Given the description of an element on the screen output the (x, y) to click on. 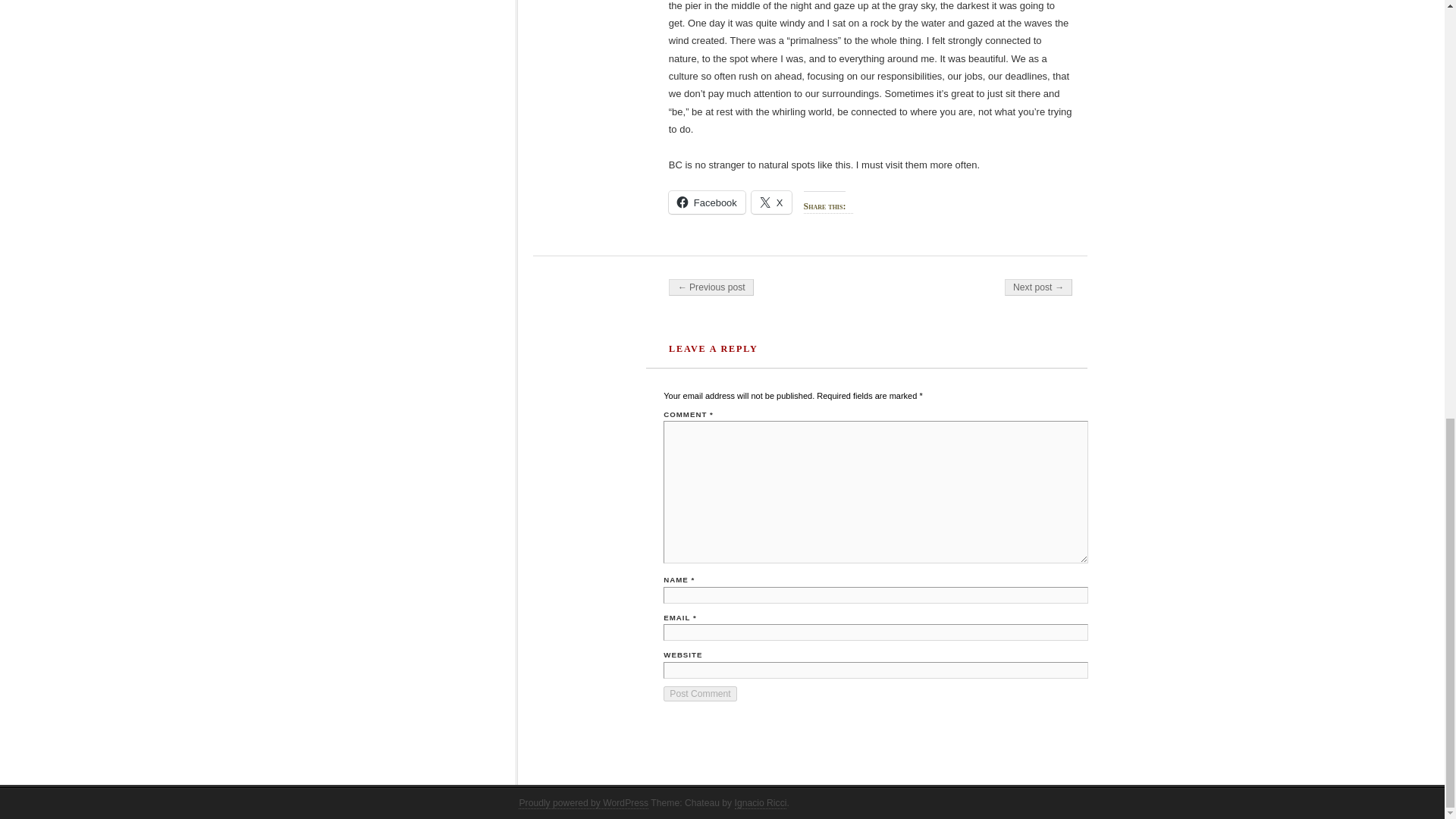
Facebook (706, 201)
Proudly powered by WordPress (582, 803)
Post Comment (699, 693)
Post Comment (699, 693)
Click to share on X (771, 201)
Click to share on Facebook (706, 201)
X (771, 201)
Ignacio Ricci (761, 803)
